Given the description of an element on the screen output the (x, y) to click on. 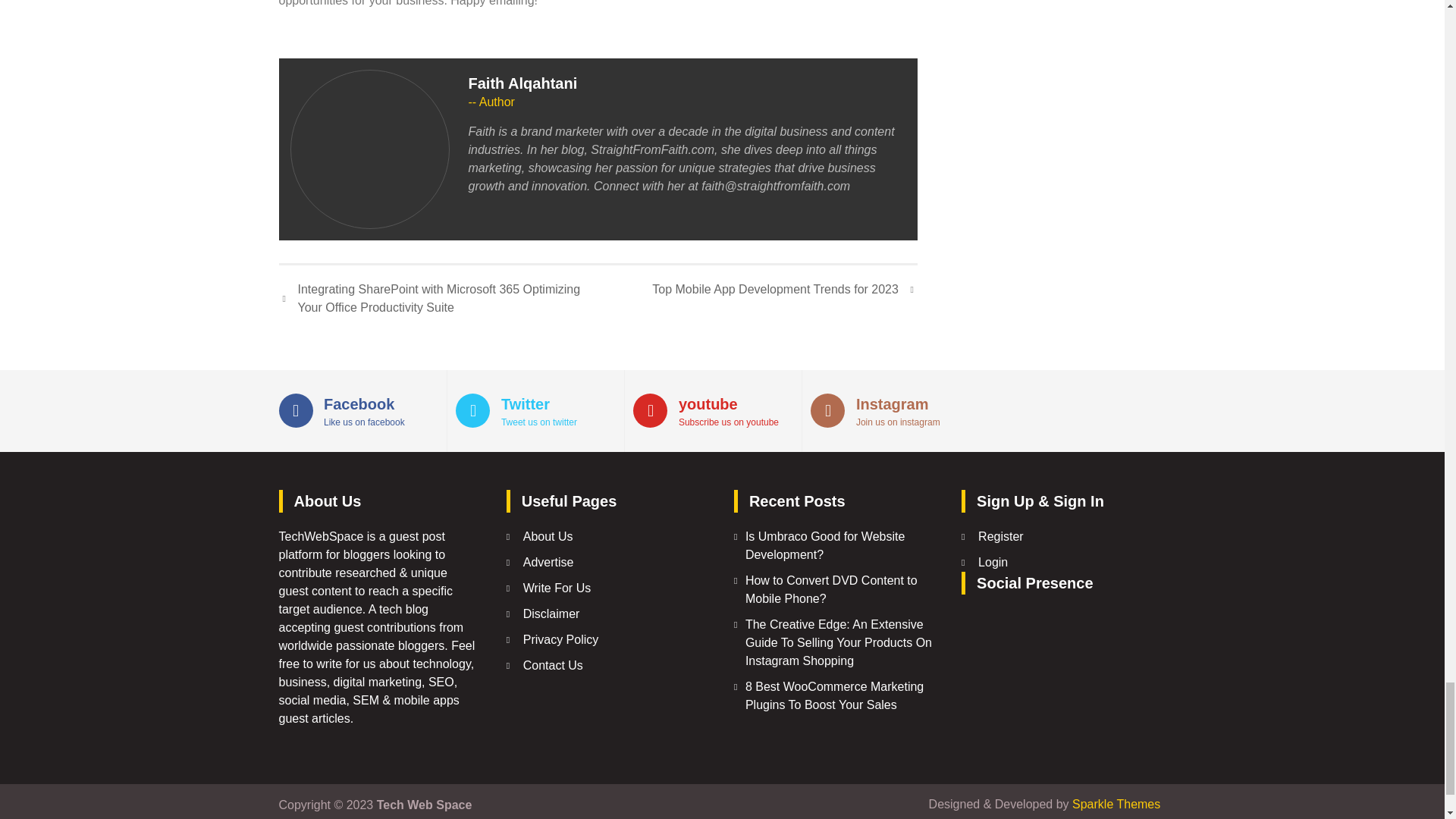
Posts by Faith Alqahtani (523, 83)
